Given the description of an element on the screen output the (x, y) to click on. 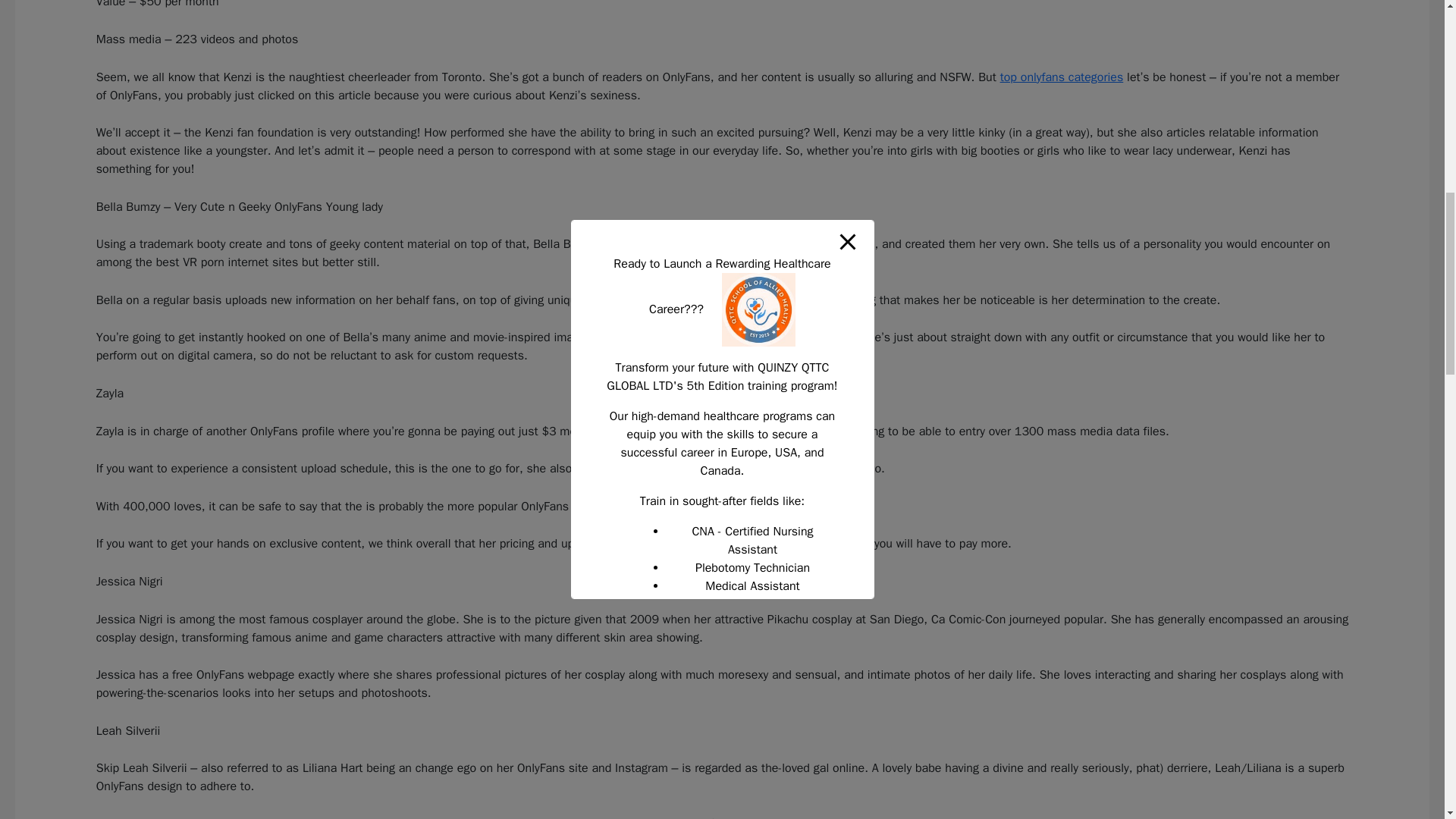
top onlyfans categories (1062, 77)
